Given the description of an element on the screen output the (x, y) to click on. 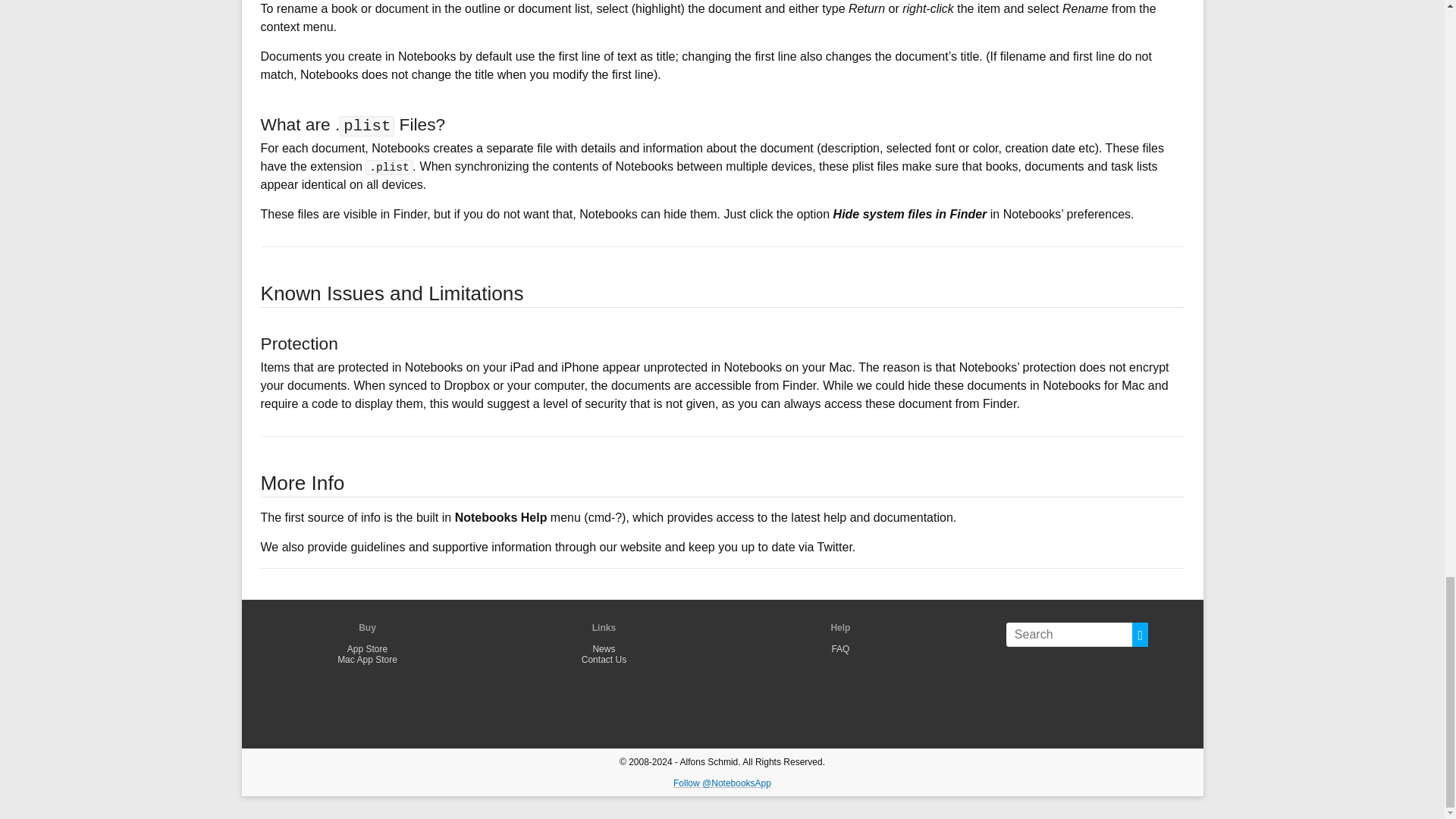
Mac App Store (367, 659)
App Store (367, 648)
News (603, 648)
FAQ (839, 648)
Contact Us (603, 659)
